Given the description of an element on the screen output the (x, y) to click on. 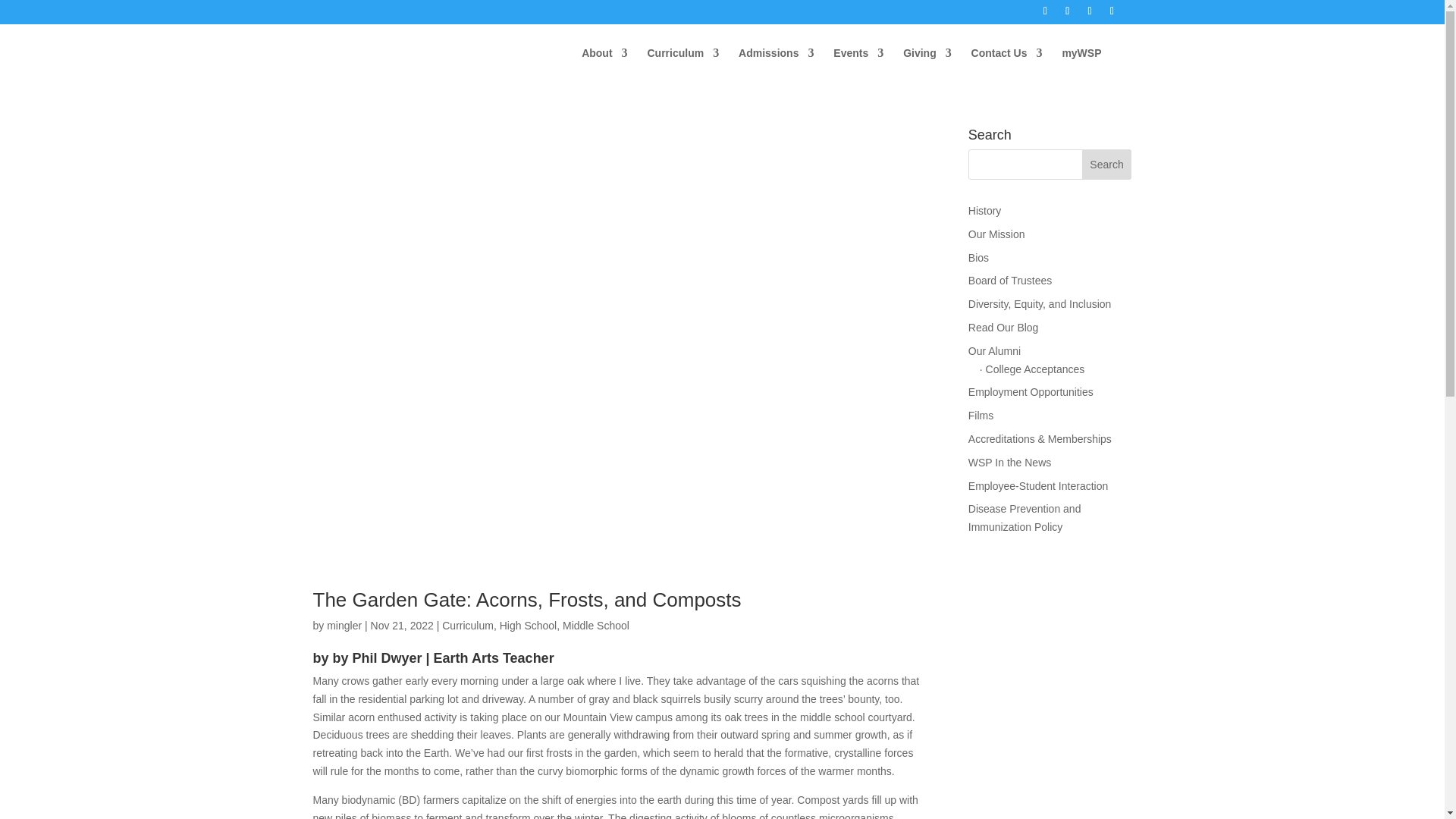
Posts by mingler (343, 625)
Events (857, 65)
Search (1106, 164)
Curriculum (682, 65)
Admissions (775, 65)
About (603, 65)
